Given the description of an element on the screen output the (x, y) to click on. 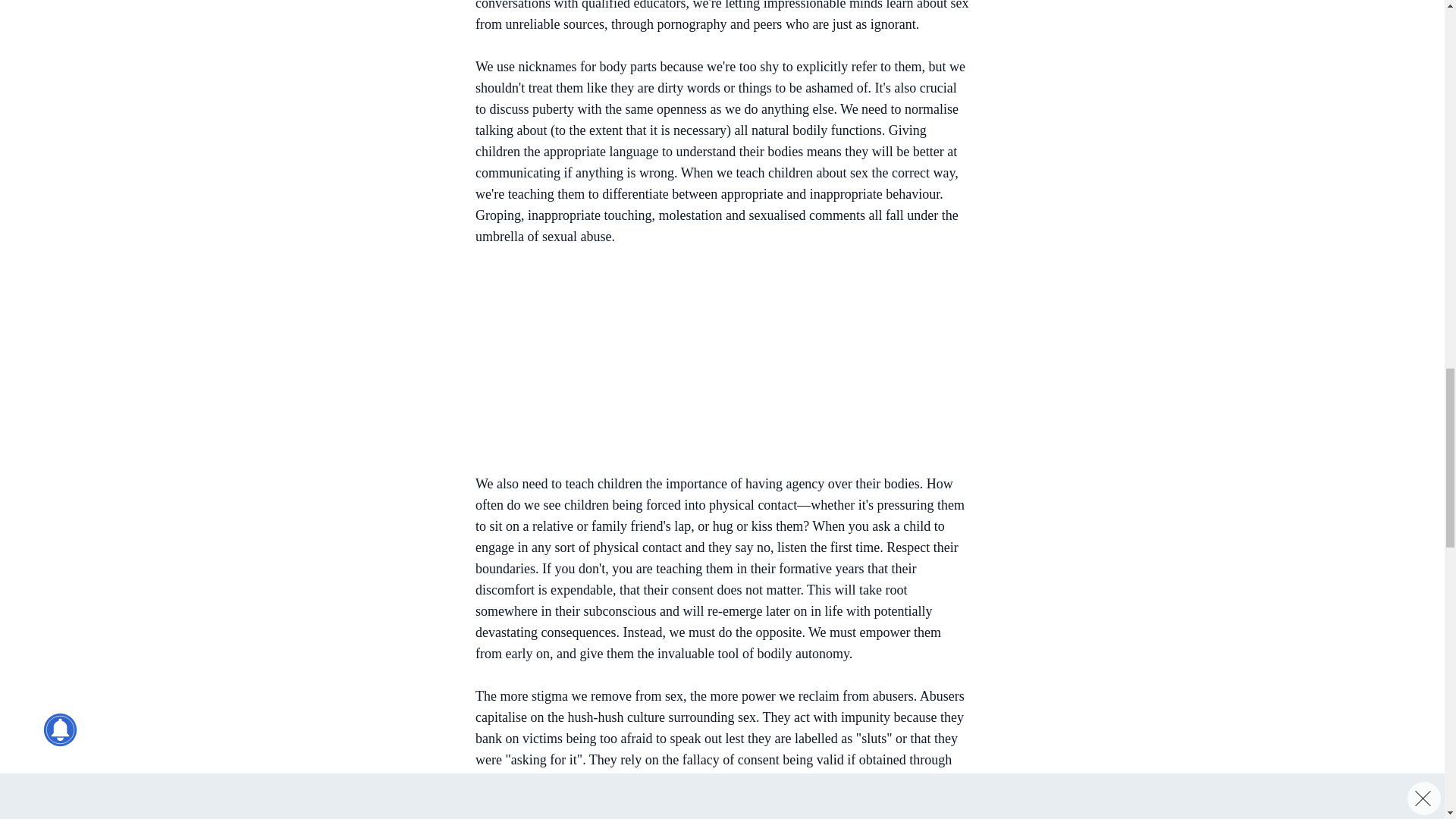
3rd party ad content (713, 362)
